Given the description of an element on the screen output the (x, y) to click on. 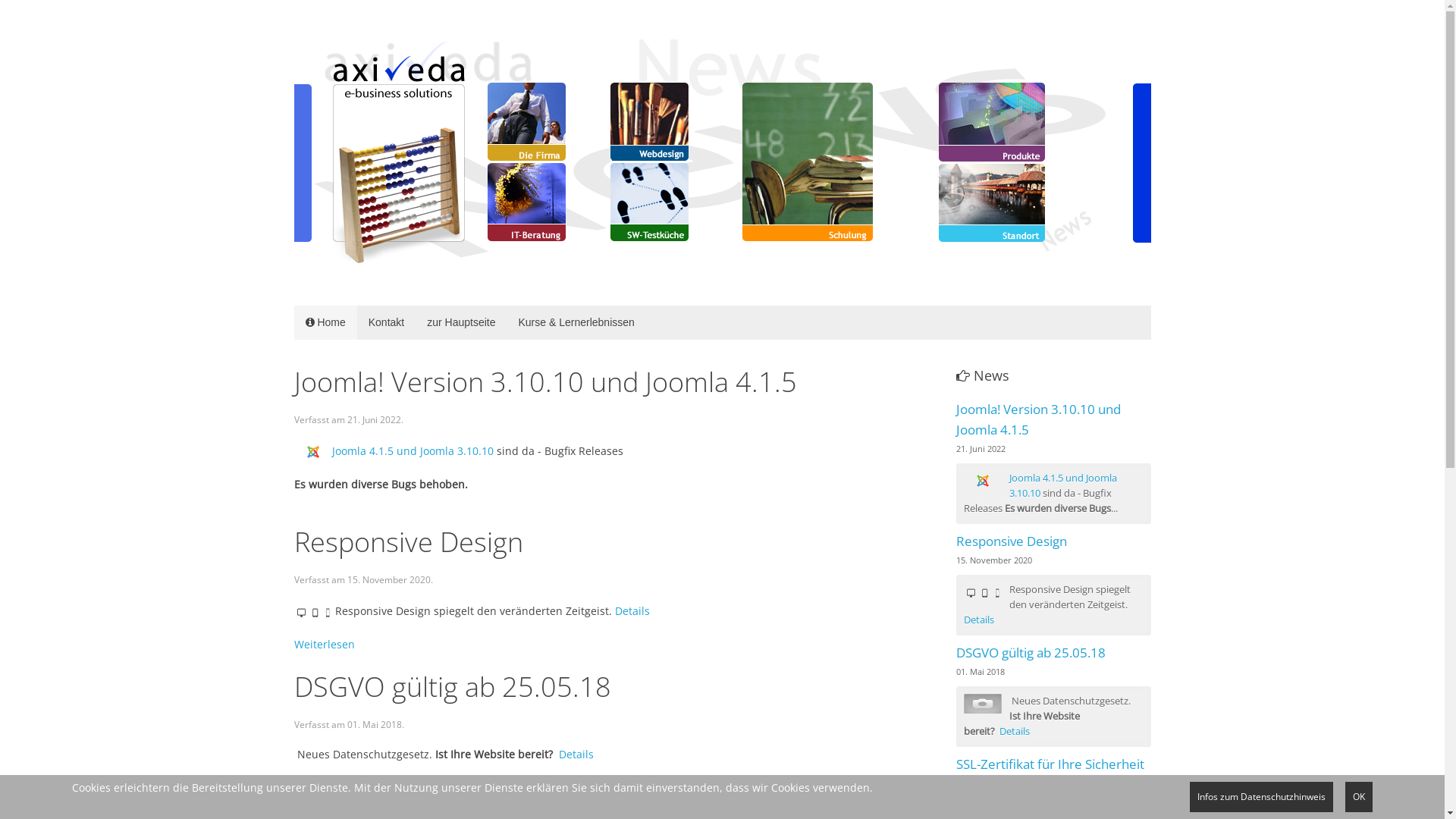
Details Element type: text (978, 619)
Infos zum Datenschutzhinweis Element type: text (1261, 796)
Details Element type: text (631, 610)
Weiterlesen Element type: text (324, 784)
Joomla 4.1.5 und Joomla 3.10.10 Element type: text (1063, 485)
zur Hauptseite Element type: text (460, 322)
Responsive Design Element type: text (1011, 540)
Weiterlesen Element type: text (324, 644)
OK Element type: text (1358, 796)
Details Element type: text (575, 753)
Kurse & Lernerlebnissen Element type: text (575, 322)
Kontakt Element type: text (386, 322)
Joomla 4.1.5 und Joomla 3.10.10 Element type: text (412, 450)
Joomla! Version 3.10.10 und Joomla 4.1.5 Element type: text (1038, 419)
Home Element type: text (325, 322)
Details Element type: text (1014, 730)
